Given the description of an element on the screen output the (x, y) to click on. 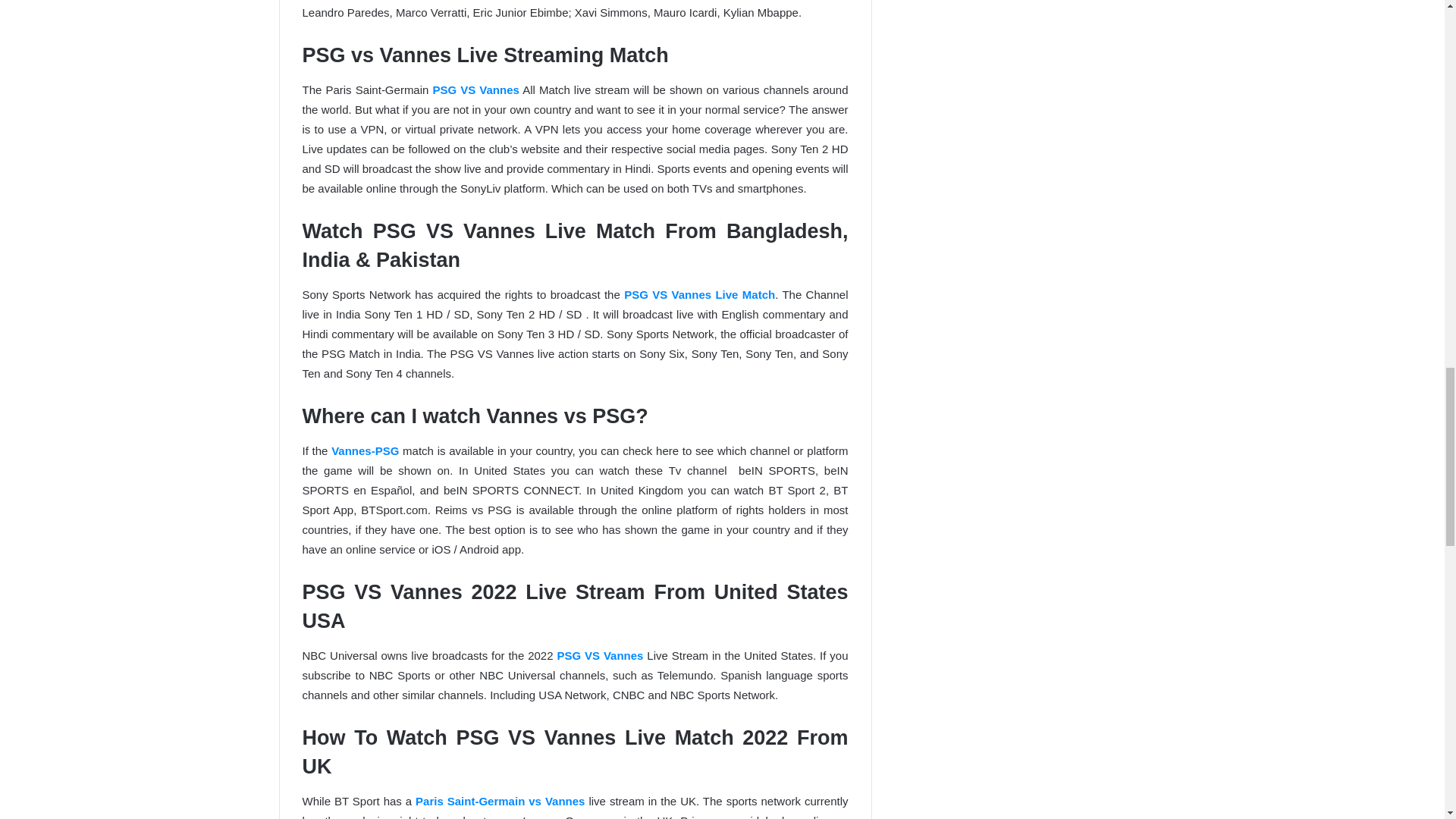
PSG VS Vannes Live Match (699, 294)
Vannes-PSG (367, 450)
PSG VS Vannes (475, 89)
